Given the description of an element on the screen output the (x, y) to click on. 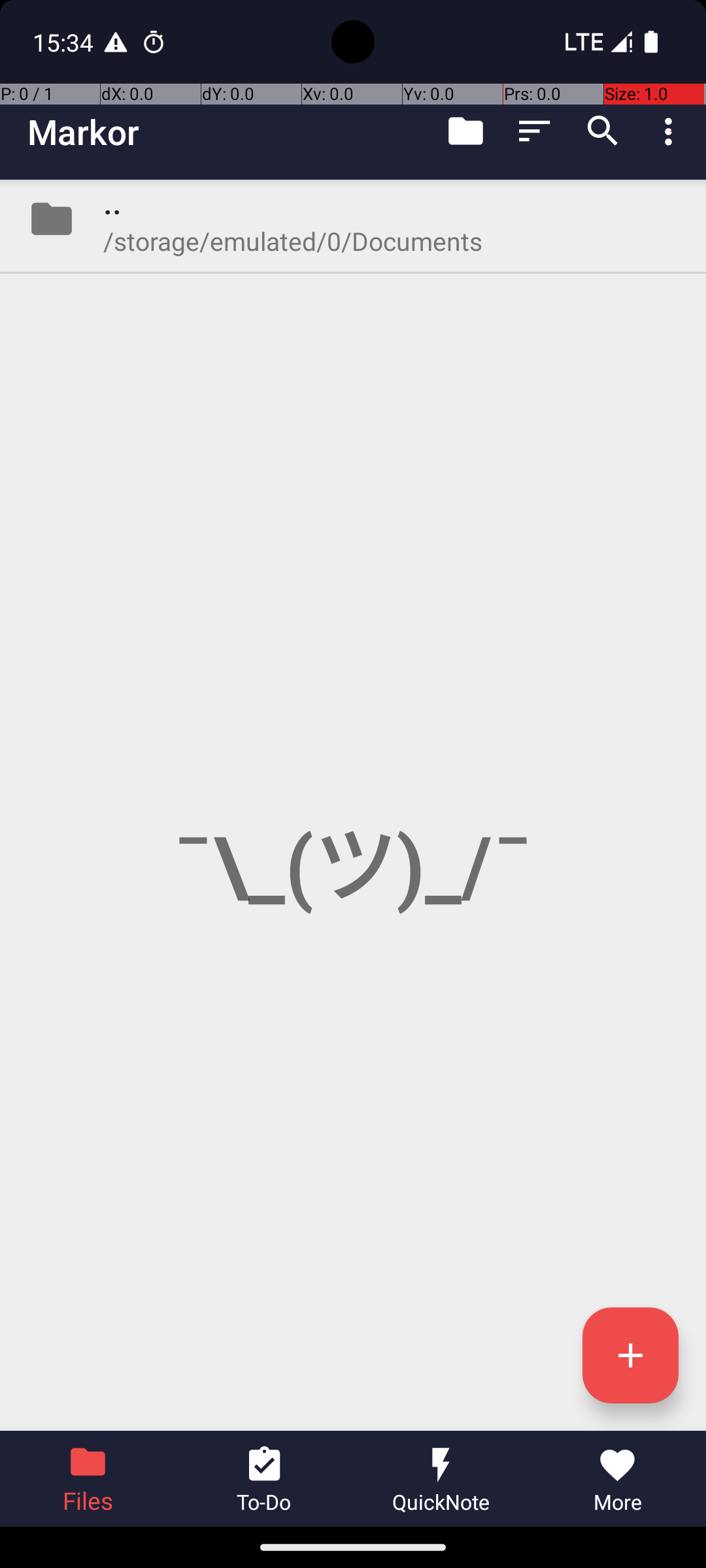
¯\_(ツ)_/¯ Element type: android.widget.TextView (353, 804)
